Given the description of an element on the screen output the (x, y) to click on. 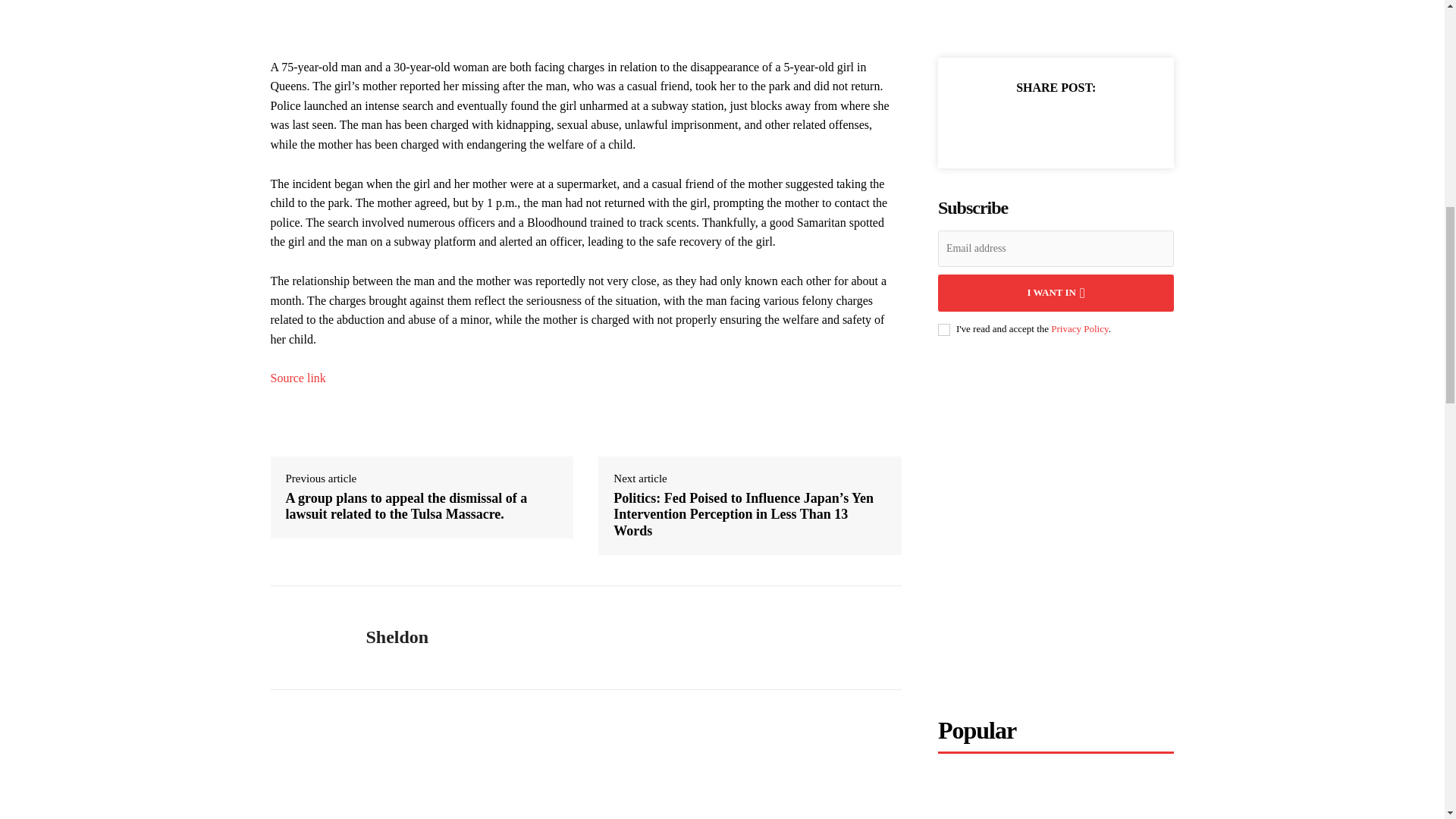
Sheldon (305, 637)
Source link (296, 377)
Sheldon (396, 637)
